Given the description of an element on the screen output the (x, y) to click on. 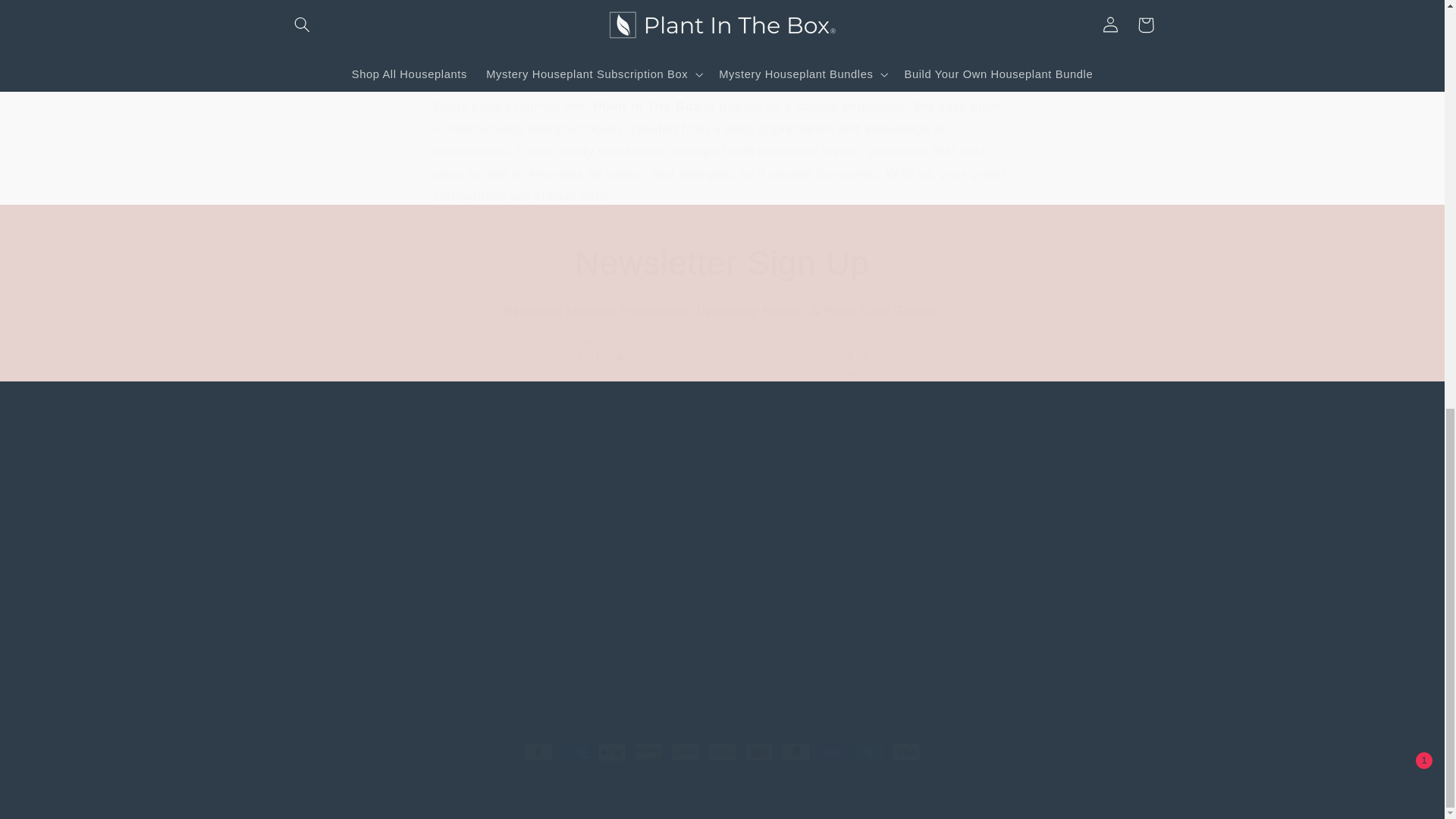
Email (722, 357)
Newsletter Sign Up (722, 263)
